Given the description of an element on the screen output the (x, y) to click on. 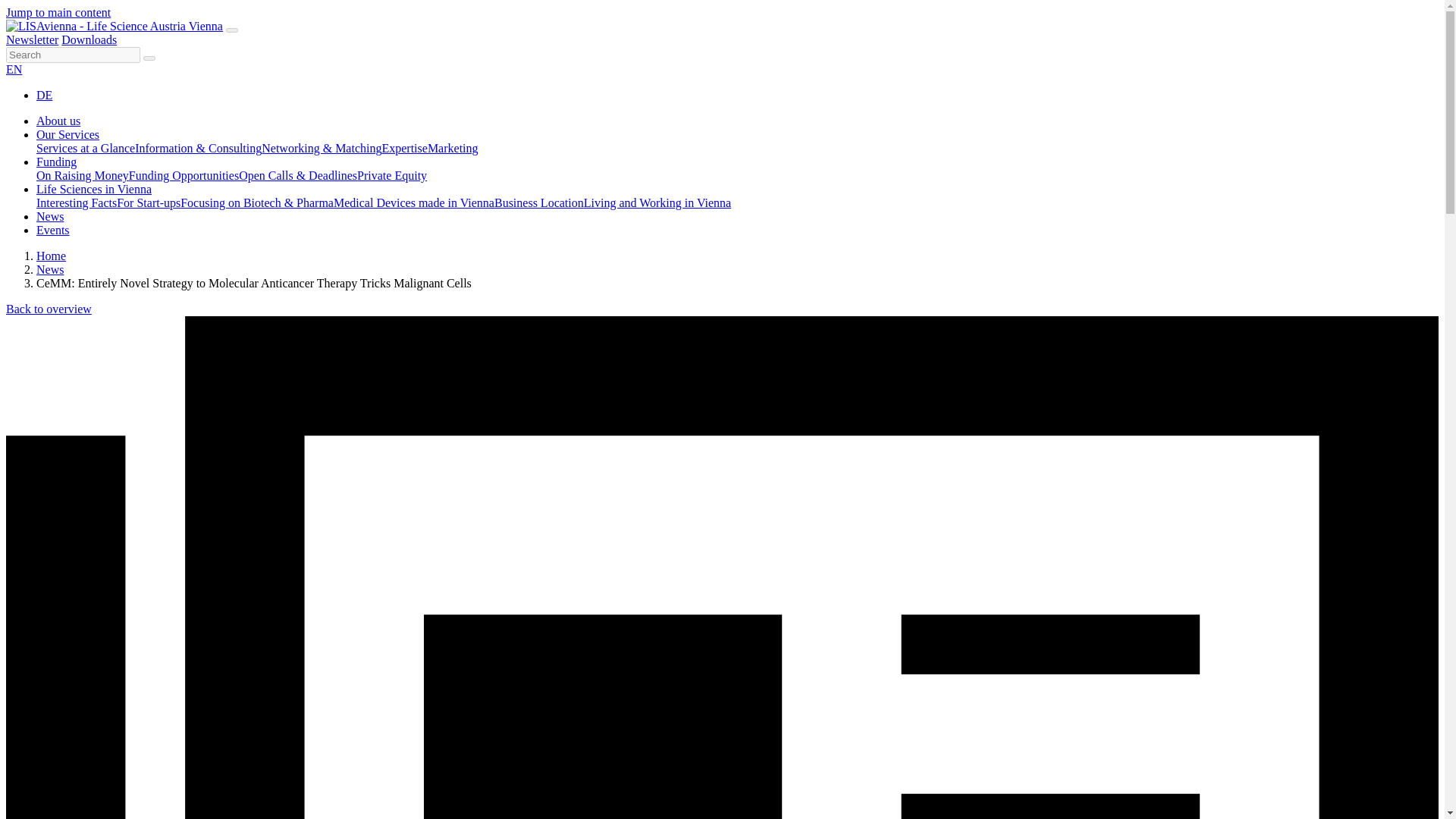
LISAvienna - back to home (113, 25)
DE (44, 94)
Funding (56, 161)
Living and Working in Vienna (656, 202)
Private Equity (391, 174)
Funding (56, 161)
On Raising Money (82, 174)
Newsletter (31, 39)
Business Location (539, 202)
News (50, 215)
Back to overview (48, 308)
News (50, 269)
